Given the description of an element on the screen output the (x, y) to click on. 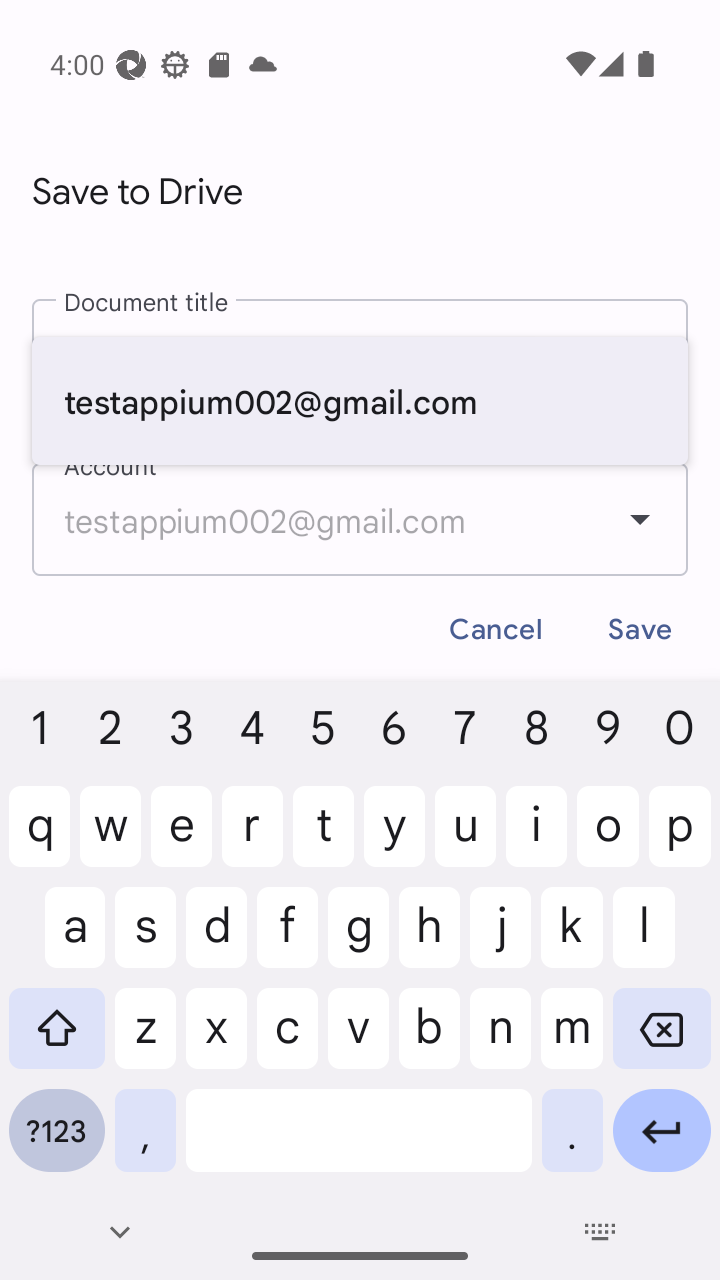
Show dropdown menu (639, 519)
Cancel (496, 630)
Save (640, 630)
